Given the description of an element on the screen output the (x, y) to click on. 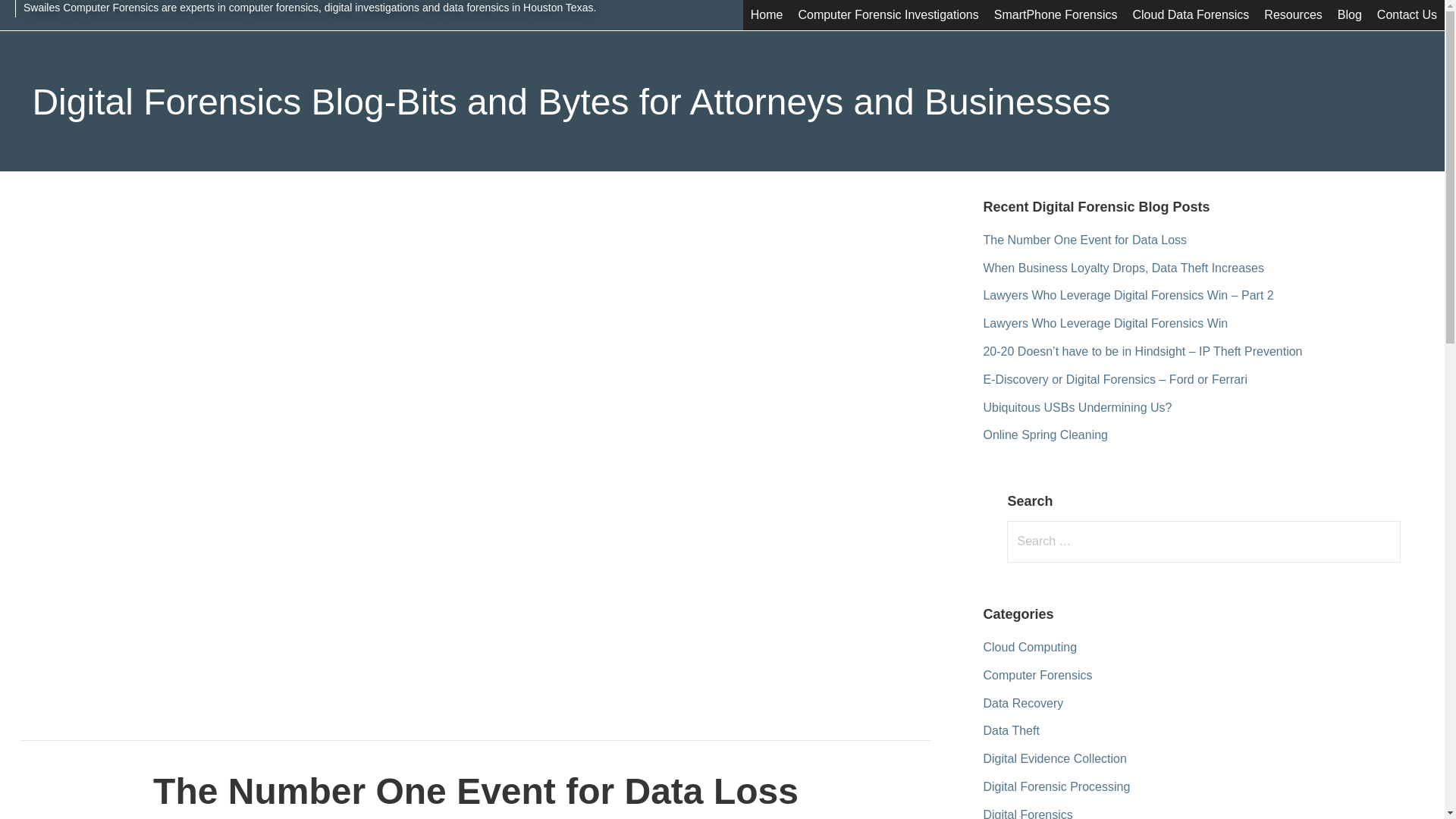
Cloud Data Forensics (1191, 15)
When Business Loyalty Drops, Data Theft Increases (1122, 267)
Lawyers Who Leverage Digital Forensics Win (1104, 323)
Digital Evidence Collection (1053, 758)
Computer Forensics (1037, 675)
Data Theft (1010, 730)
The Number One Event for Data Loss (1084, 239)
Resources (1292, 15)
SmartPhone Forensics (1056, 15)
Digital Forensics (1026, 813)
Blog (1350, 15)
Computer Forensic Investigations (887, 15)
Digital Forensic Processing (1055, 786)
Online Spring Cleaning (1045, 434)
